Given the description of an element on the screen output the (x, y) to click on. 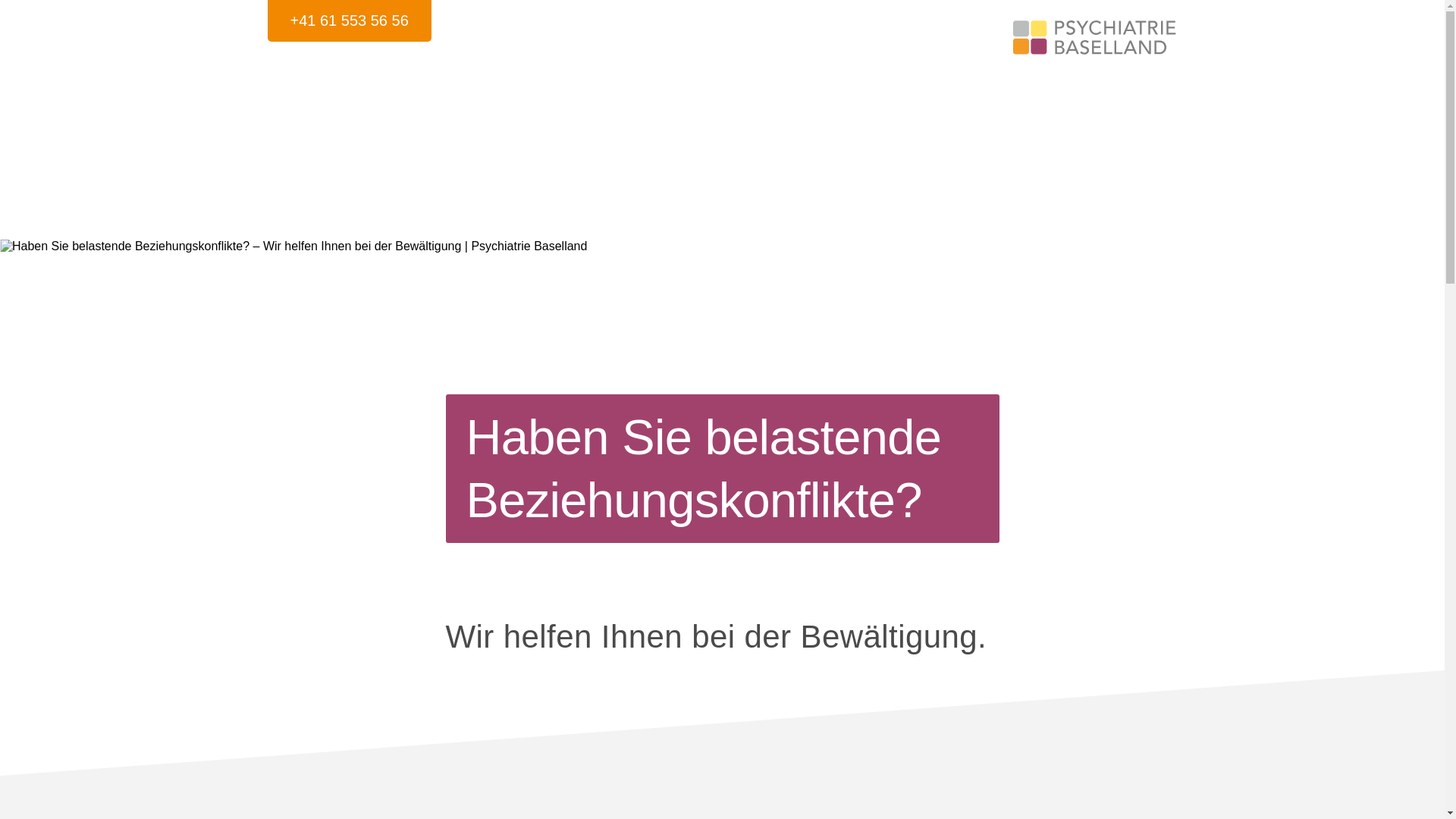
+41 61 553 56 56 Element type: text (348, 20)
+41 61 553 56 56 Element type: text (348, 21)
